Given the description of an element on the screen output the (x, y) to click on. 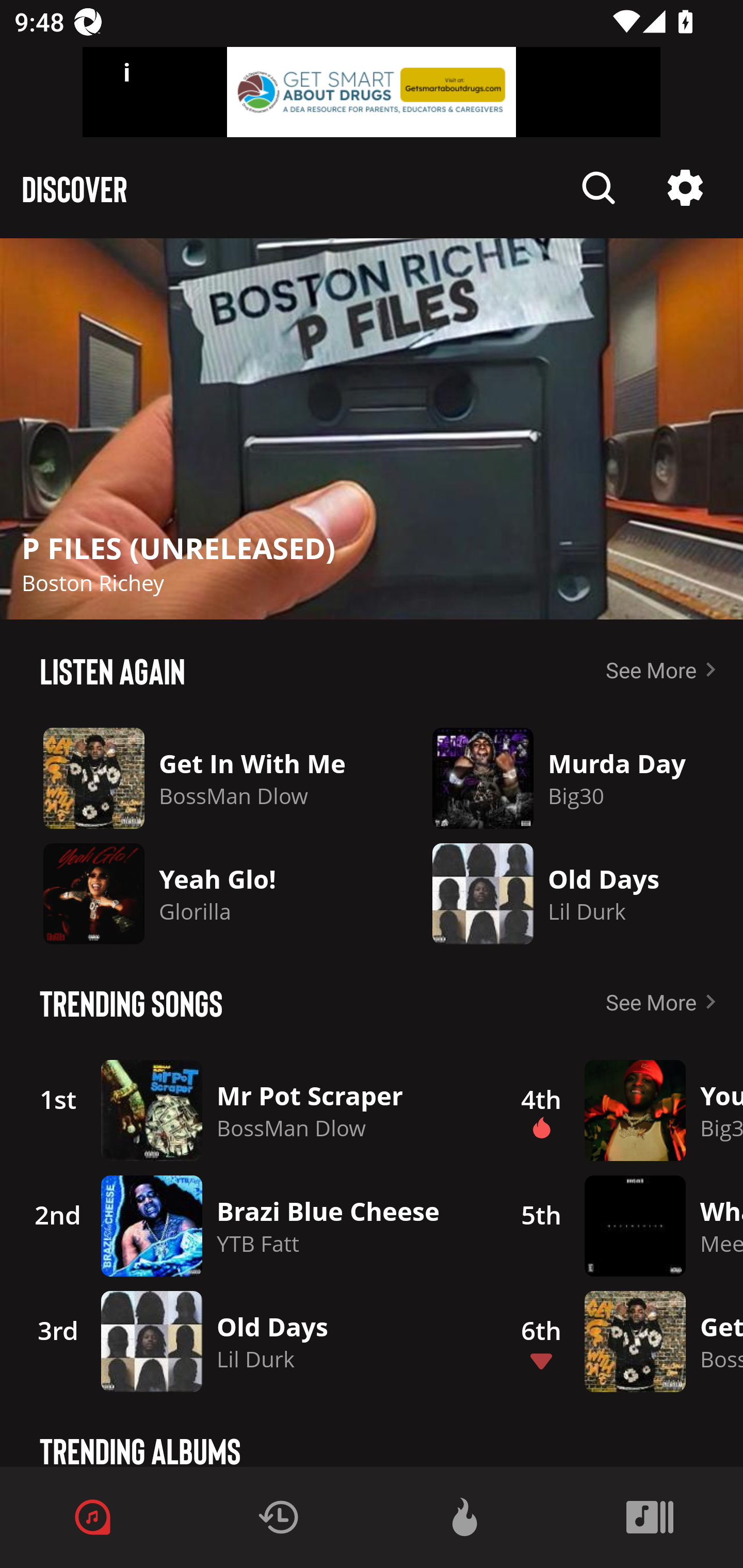
Description (598, 188)
Description (684, 188)
Description (371, 428)
See More (664, 669)
Description Get In With Me BossMan Dlow (201, 778)
Description Murda Day Big30 (566, 778)
Description Yeah Glo! Glorilla (201, 893)
Description Old Days Lil Durk (566, 893)
See More (664, 1001)
1st Description Mr Pot Scraper BossMan Dlow (248, 1110)
4th Description Description You Thought Big30 (620, 1110)
2nd Description Brazi Blue Cheese YTB Fatt (248, 1226)
3rd Description Old Days Lil Durk (248, 1341)
